Given the description of an element on the screen output the (x, y) to click on. 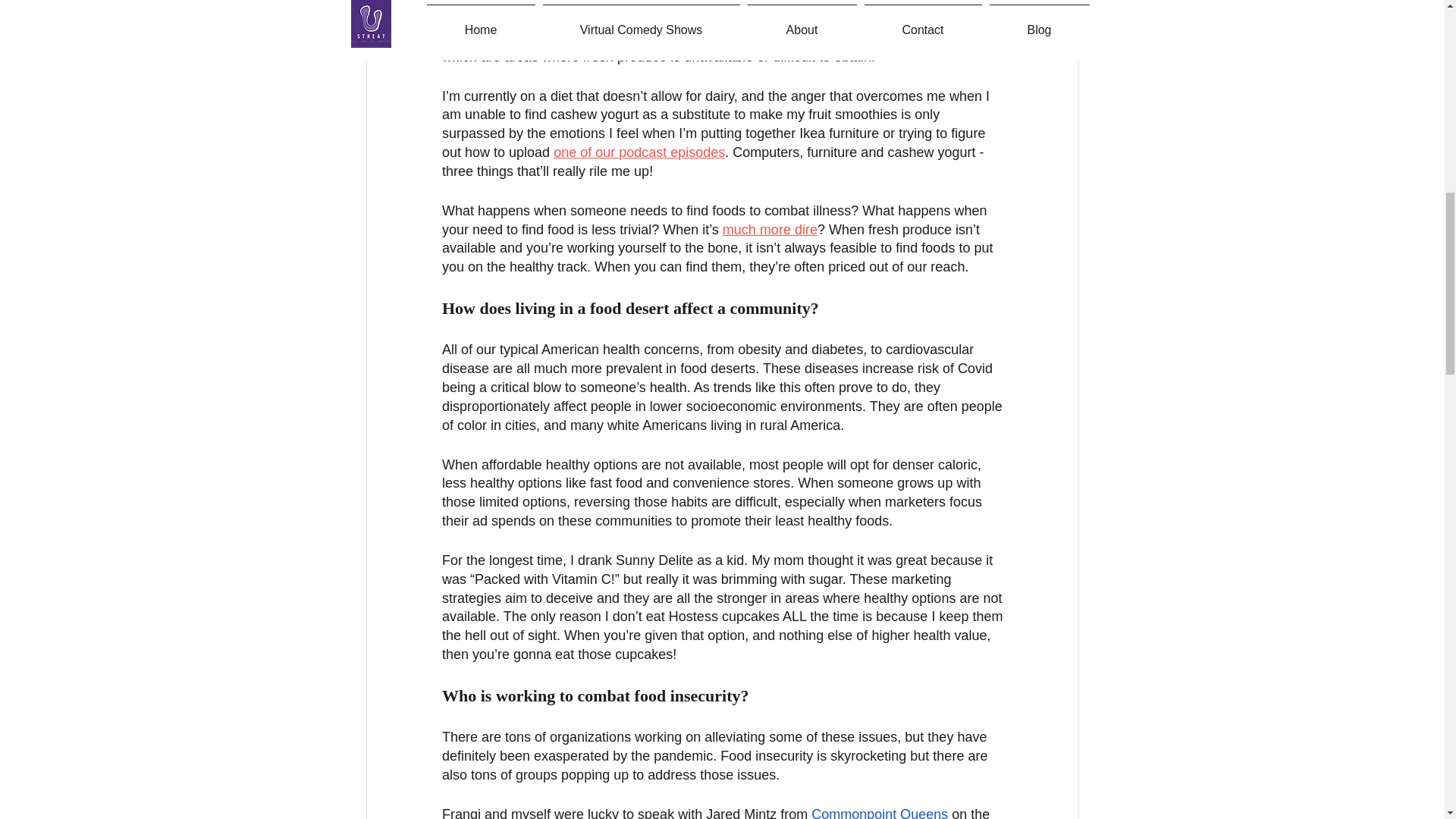
much more dire (769, 229)
one of our podcast episodes (639, 151)
Commonpoint Queens (878, 812)
